Given the description of an element on the screen output the (x, y) to click on. 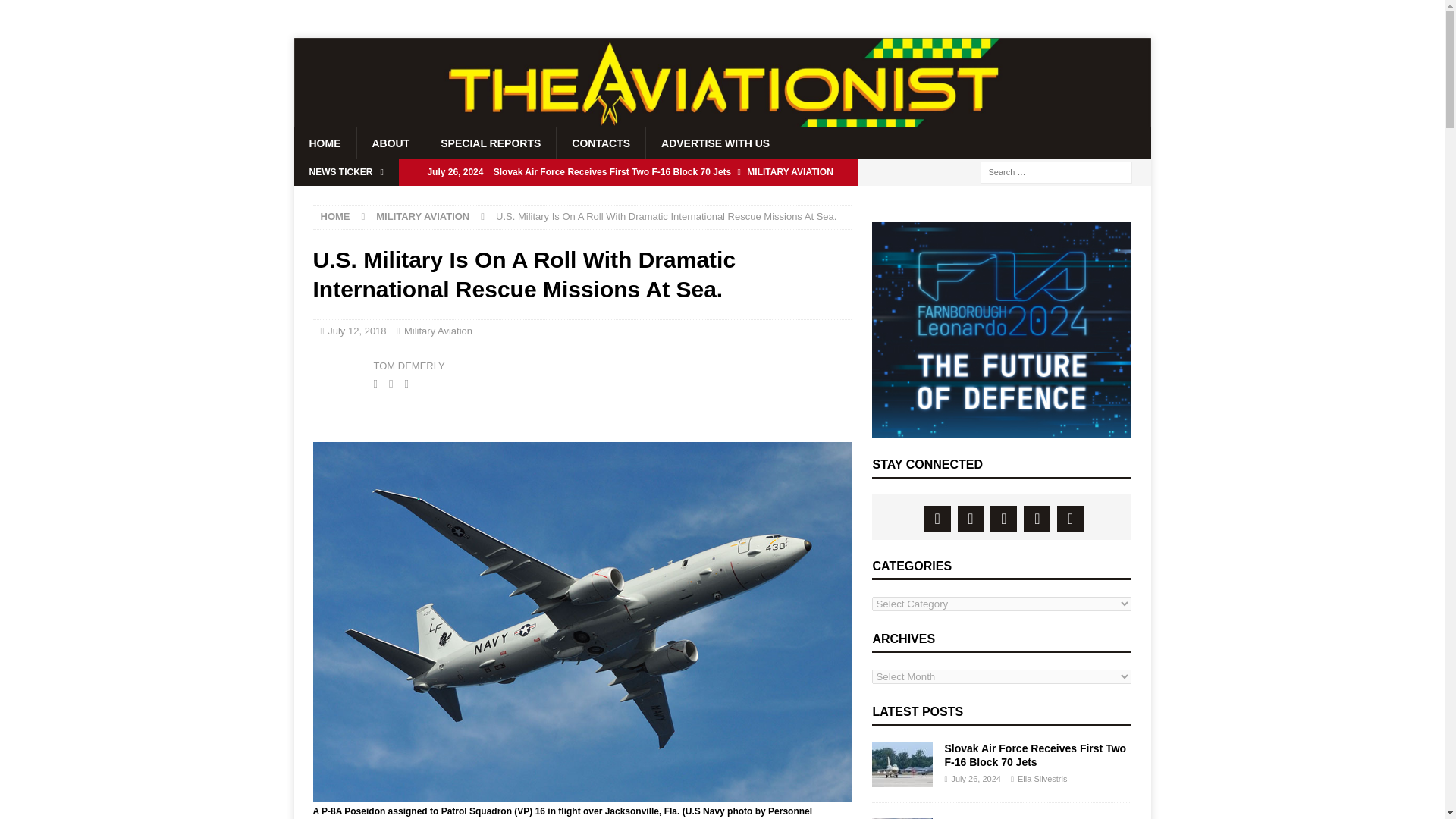
ADVERTISE WITH US (714, 142)
The Aviationist (722, 121)
Greece Signs Deal To Buy 20 F-35 Fighter Jets (628, 197)
MILITARY AVIATION (421, 215)
ABOUT (390, 142)
July 12, 2018 (356, 330)
Search (56, 11)
SPECIAL REPORTS (490, 142)
HOME (334, 215)
CONTACTS (600, 142)
Tom Demerly (339, 373)
HOME (325, 142)
Slovak Air Force Receives First Two F-16 Block 70 Jets (628, 171)
